Given the description of an element on the screen output the (x, y) to click on. 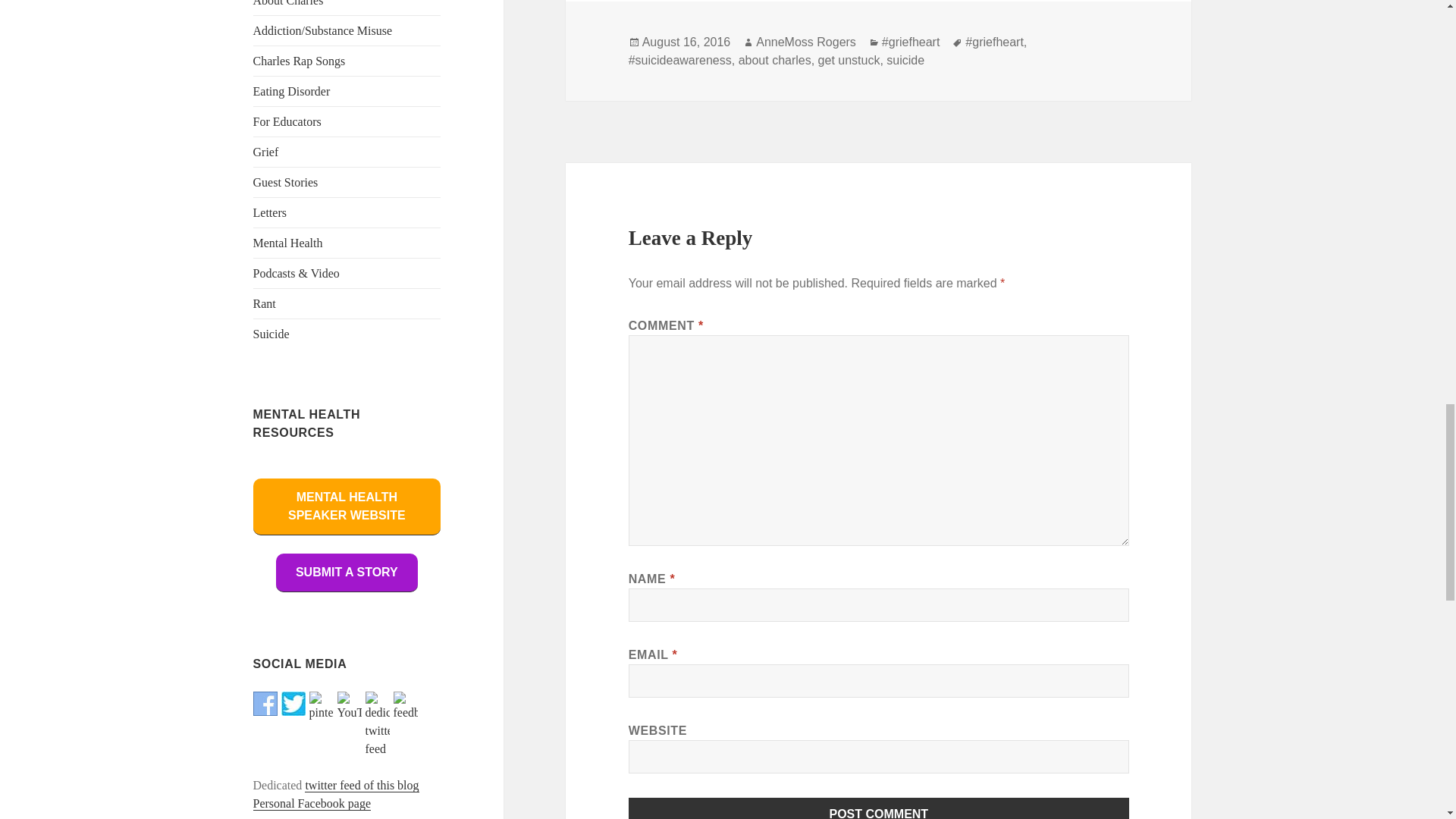
Post Comment (878, 808)
